Given the description of an element on the screen output the (x, y) to click on. 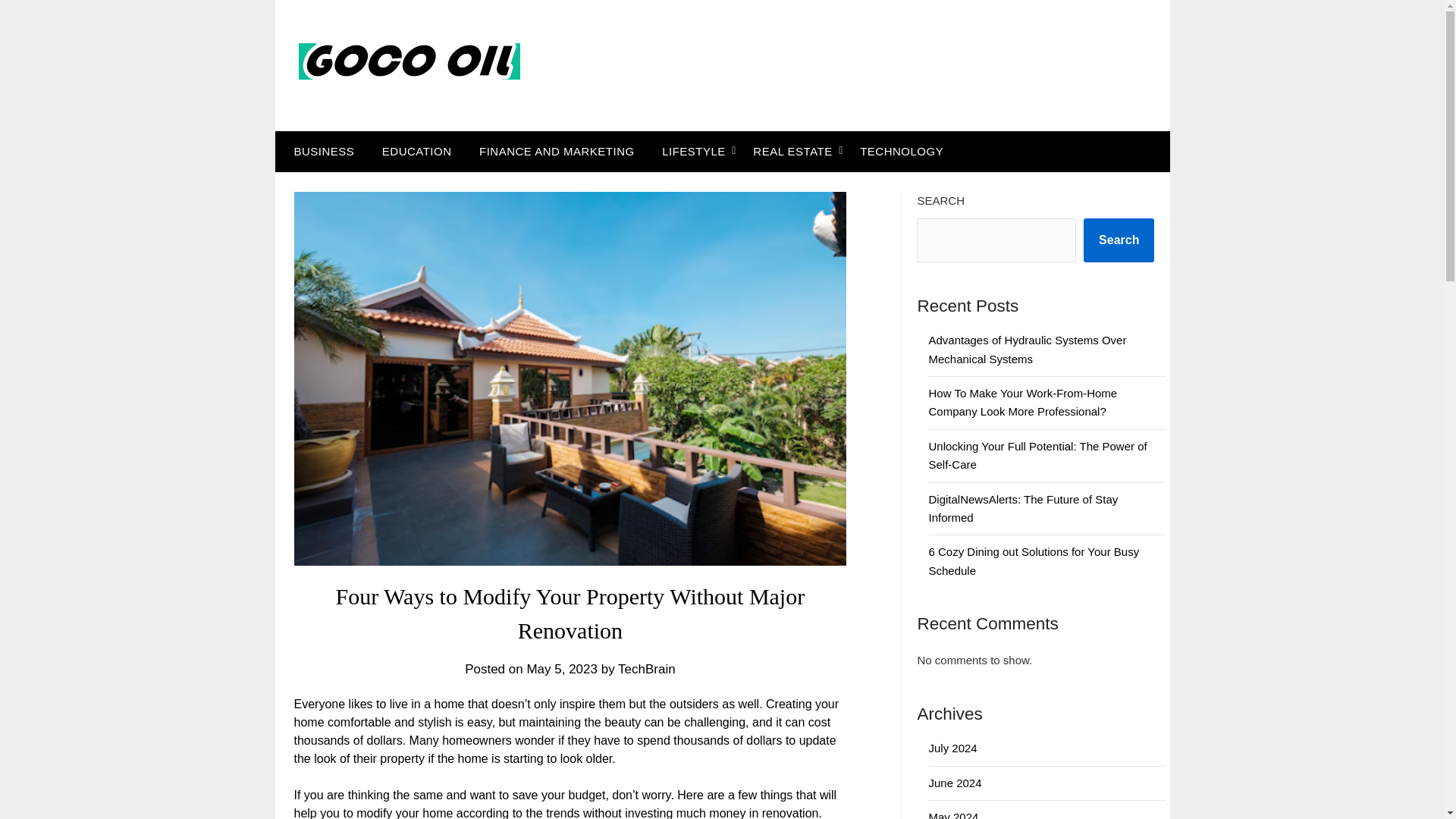
May 2024 (953, 814)
REAL ESTATE (792, 151)
Advantages of Hydraulic Systems Over Mechanical Systems (1026, 348)
EDUCATION (416, 151)
TechBrain (646, 668)
TECHNOLOGY (901, 151)
LIFESTYLE (693, 151)
July 2024 (952, 748)
Search (1118, 240)
June 2024 (954, 782)
Unlocking Your Full Potential: The Power of Self-Care (1037, 454)
BUSINESS (320, 151)
6 Cozy Dining out Solutions for Your Busy Schedule (1033, 560)
May 5, 2023 (560, 668)
